Given the description of an element on the screen output the (x, y) to click on. 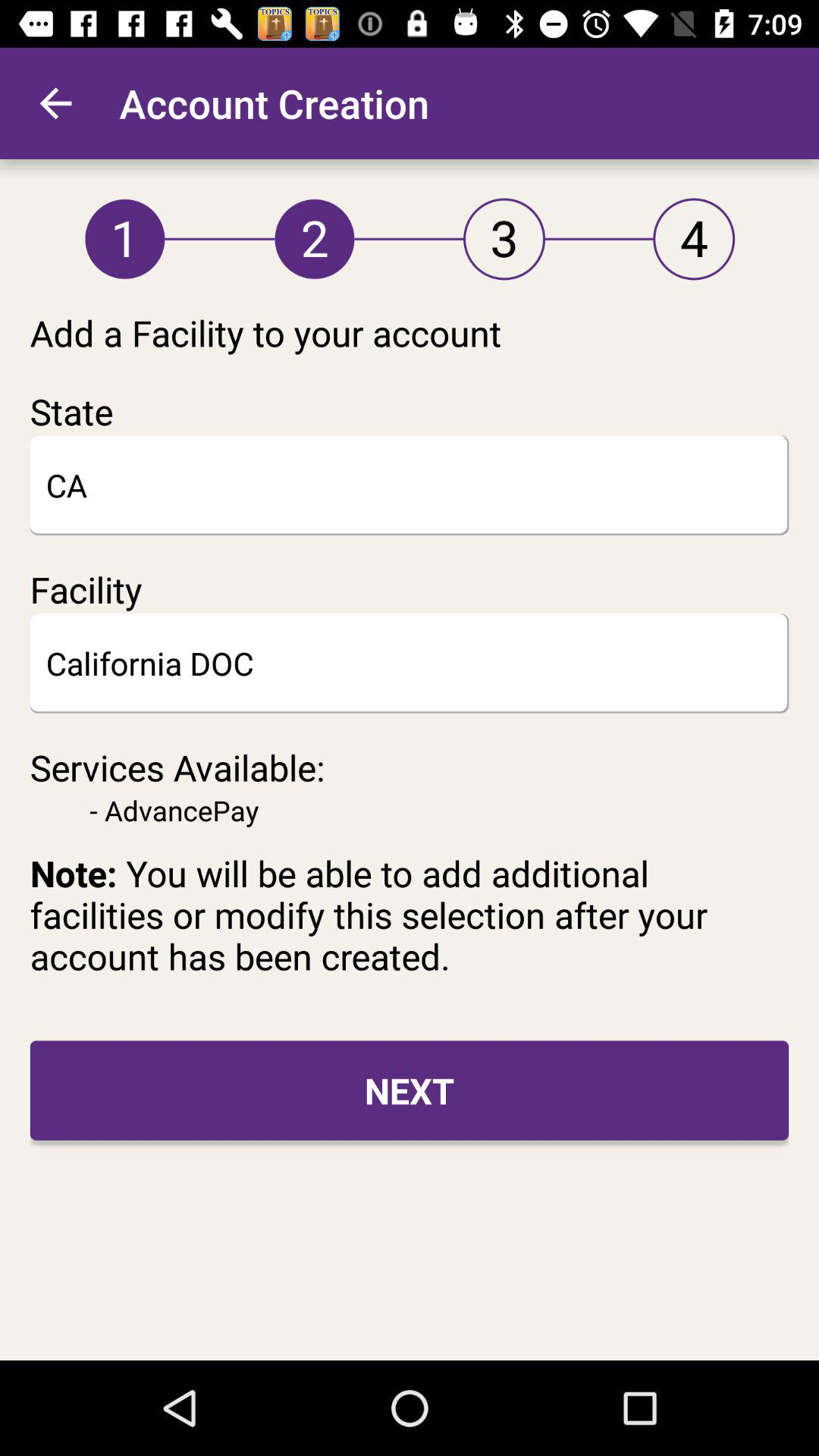
choose the item below the note you will icon (409, 1090)
